Given the description of an element on the screen output the (x, y) to click on. 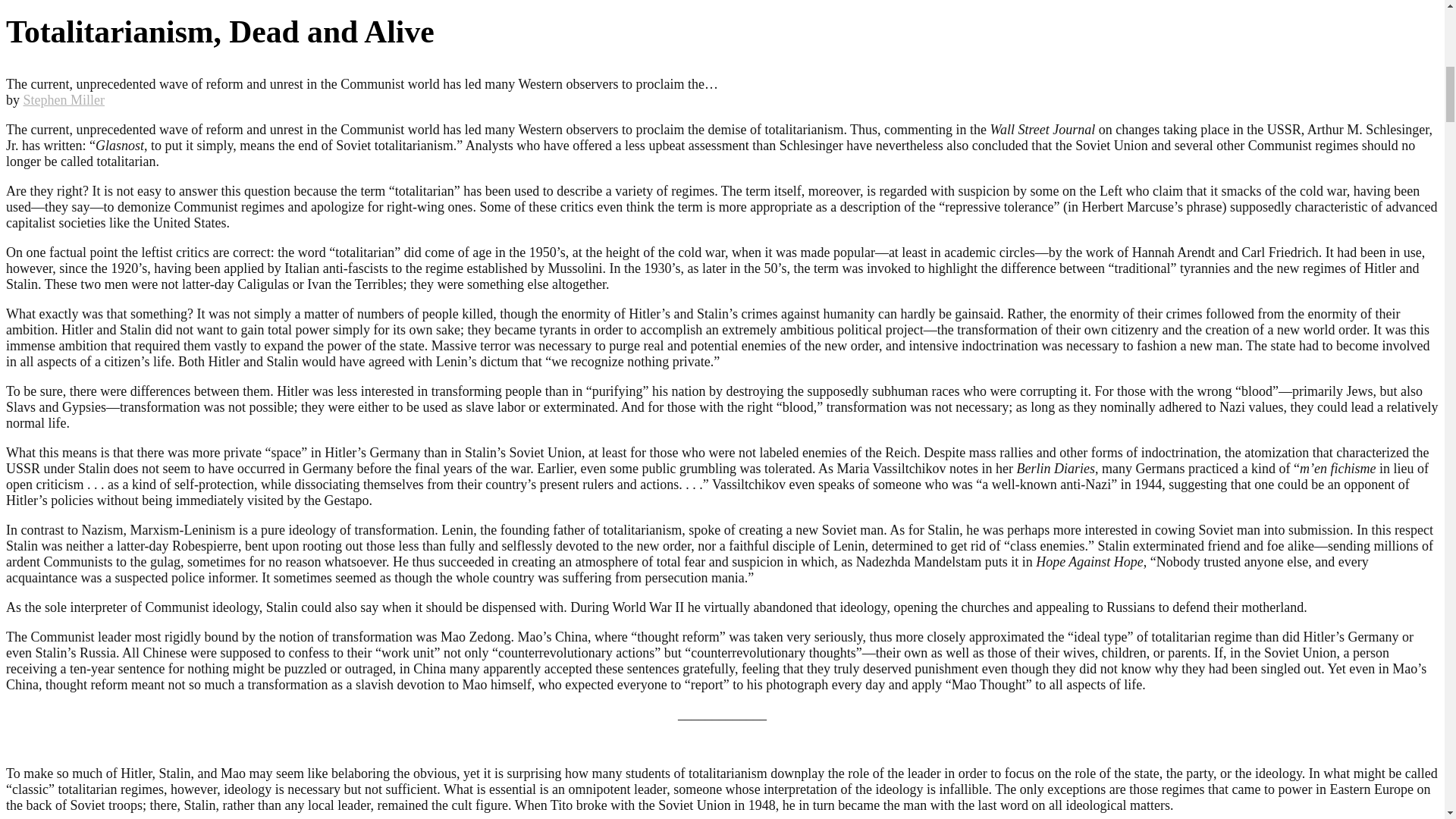
Posts by Stephen Miller (63, 99)
Stephen Miller (63, 99)
